Given the description of an element on the screen output the (x, y) to click on. 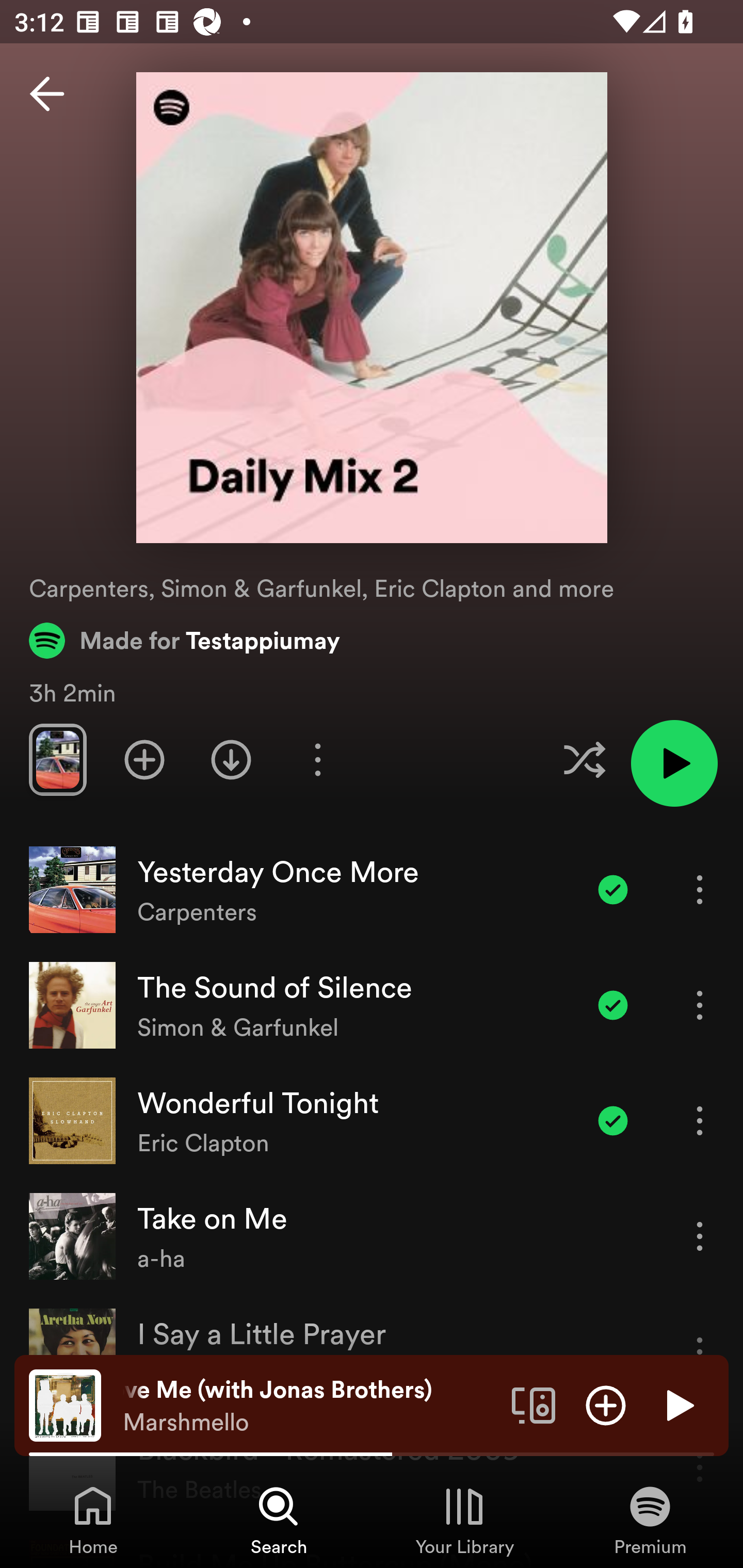
Back (46, 93)
Made for Testappiumay (184, 640)
Swipe through previews of tracks in this playlist. (57, 759)
Add playlist to Your Library (144, 759)
Download (230, 759)
More options for playlist Daily Mix 2 (317, 759)
Enable shuffle for this playlist (583, 759)
Play playlist (674, 763)
Item added (612, 889)
More options for song Yesterday Once More (699, 889)
Item added (612, 1004)
More options for song The Sound of Silence (699, 1004)
Item added (612, 1120)
More options for song Wonderful Tonight (699, 1120)
Take on Me a-ha More options for song Take on Me (371, 1236)
More options for song Take on Me (699, 1236)
